Given the description of an element on the screen output the (x, y) to click on. 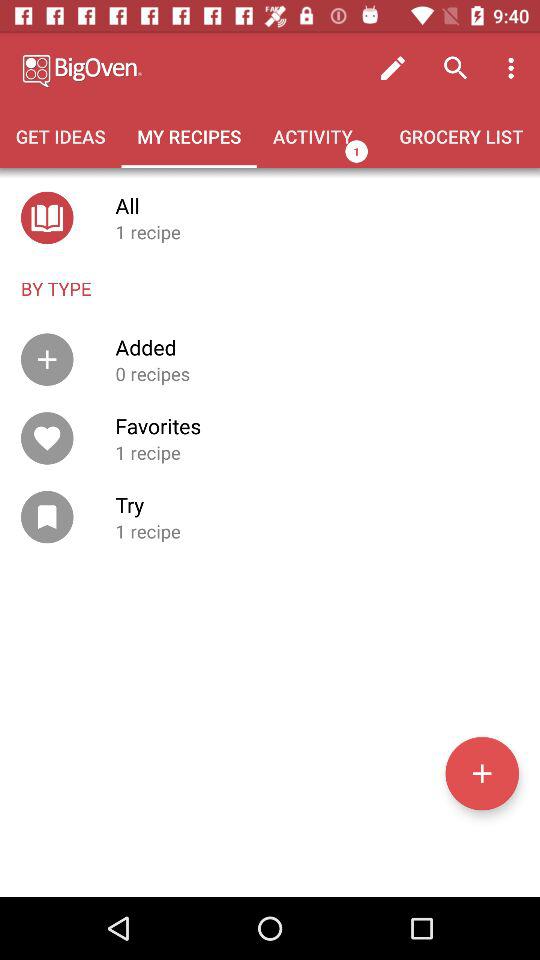
add item (482, 773)
